Given the description of an element on the screen output the (x, y) to click on. 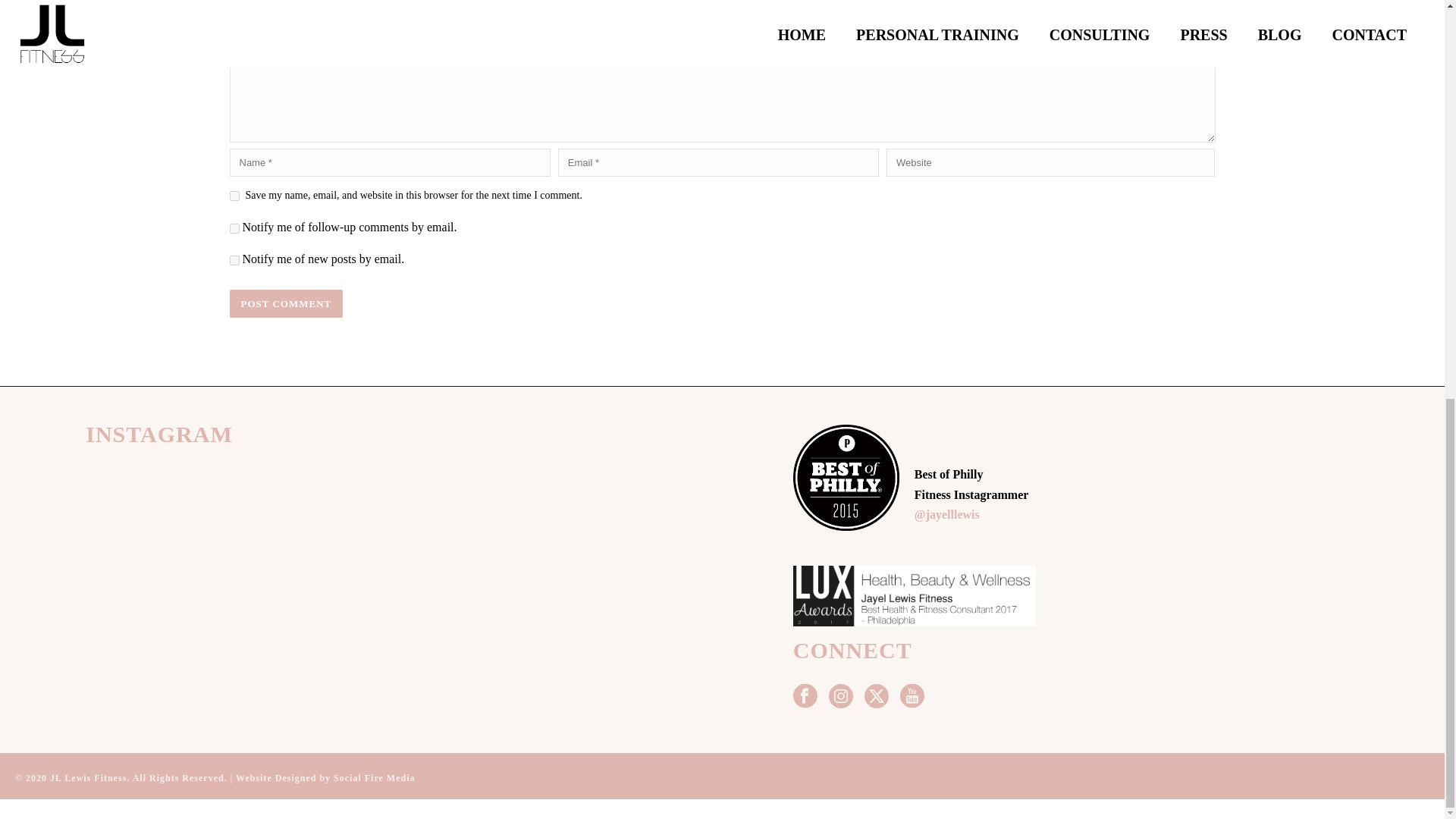
subscribe (233, 228)
POST COMMENT (285, 303)
Follow Us on instagram (840, 696)
subscribe (233, 260)
POST COMMENT (285, 303)
Follow Us on twitter (876, 696)
Follow Us on facebook (804, 696)
yes (233, 195)
Follow Us on youtube (911, 696)
Social Fire Media (373, 777)
